Given the description of an element on the screen output the (x, y) to click on. 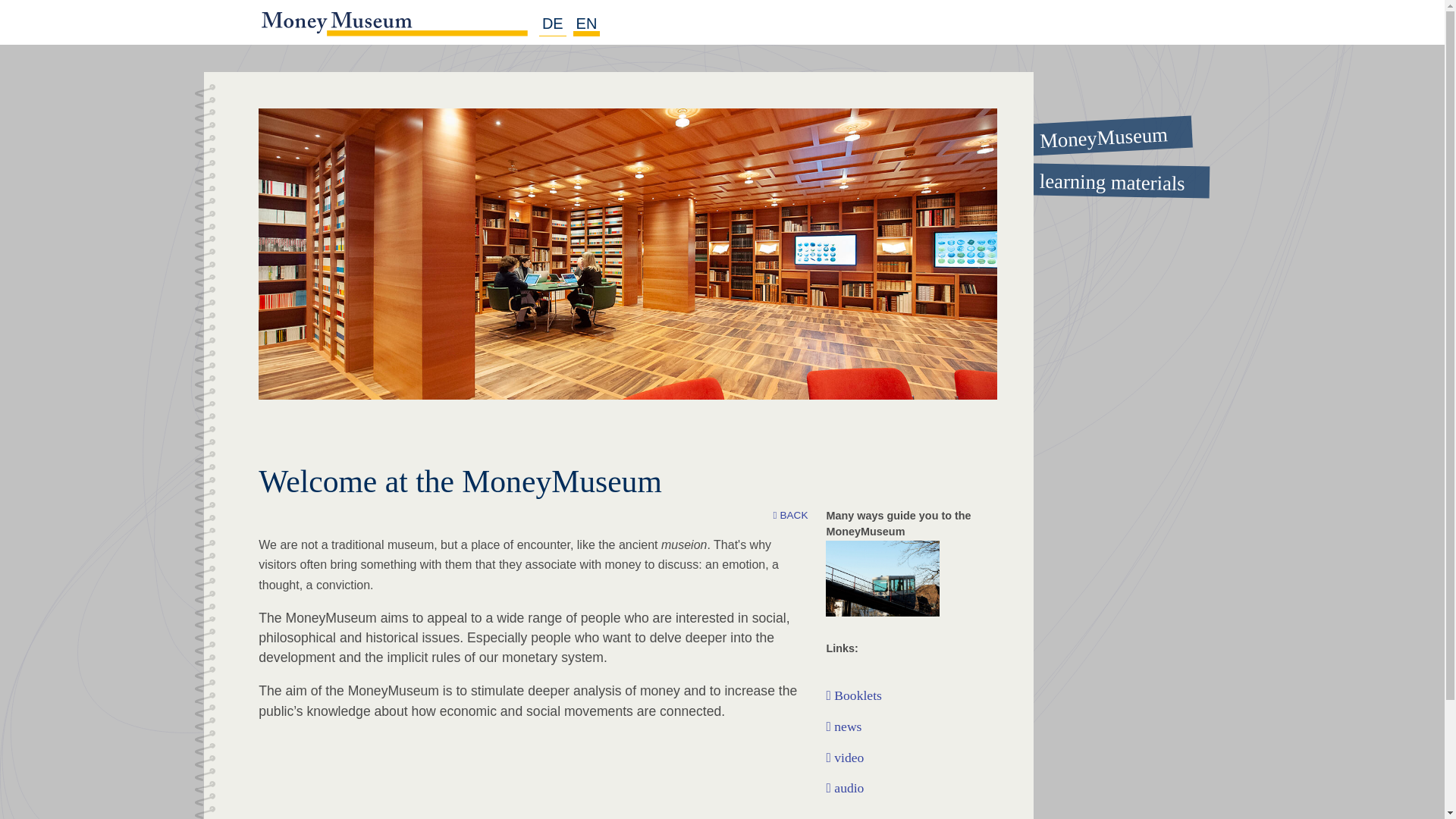
DE (552, 24)
learning materials (1097, 178)
BACK (790, 515)
EN (586, 24)
MoneyMuseum (1096, 130)
